Given the description of an element on the screen output the (x, y) to click on. 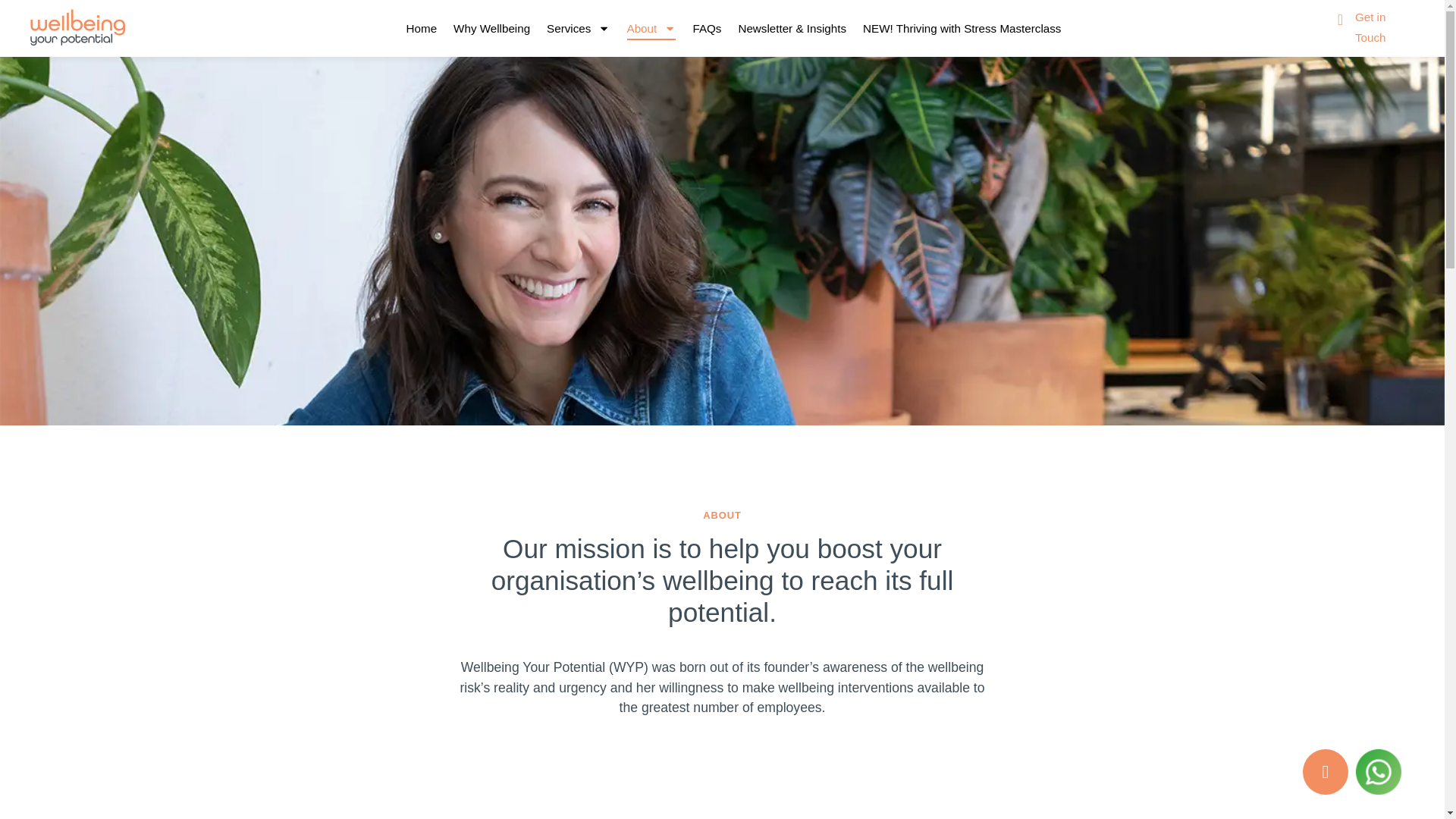
Why Wellbeing (490, 28)
Services (578, 28)
About (652, 28)
NEW! Thriving with Stress Masterclass (962, 28)
FAQs (706, 28)
Get in Touch (1385, 27)
whatsapp-icon (1377, 771)
Home (422, 28)
